Given the description of an element on the screen output the (x, y) to click on. 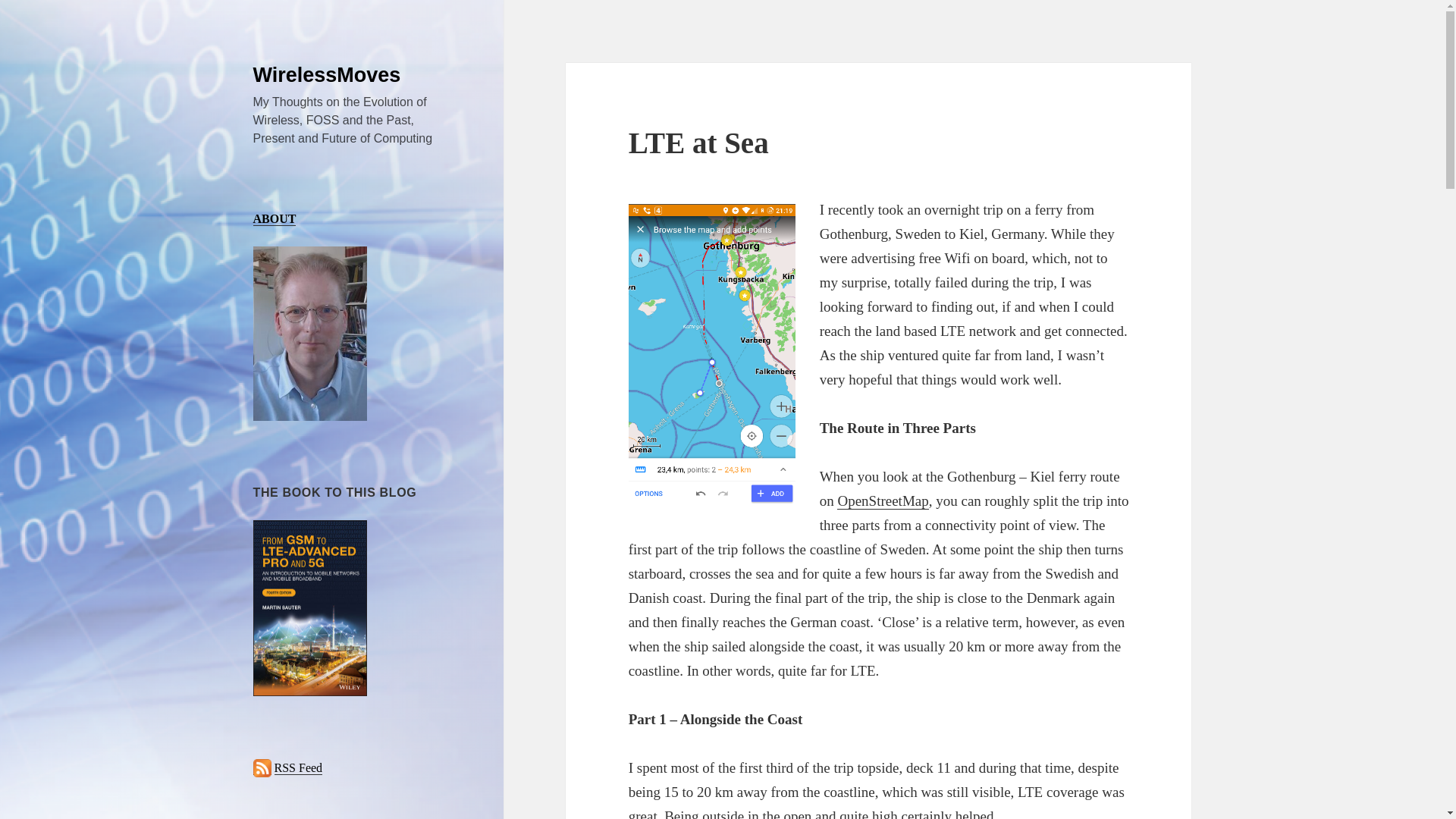
ABOUT (275, 219)
WirelessMoves (327, 74)
RSS Feed (299, 767)
OpenStreetMap (882, 501)
